Given the description of an element on the screen output the (x, y) to click on. 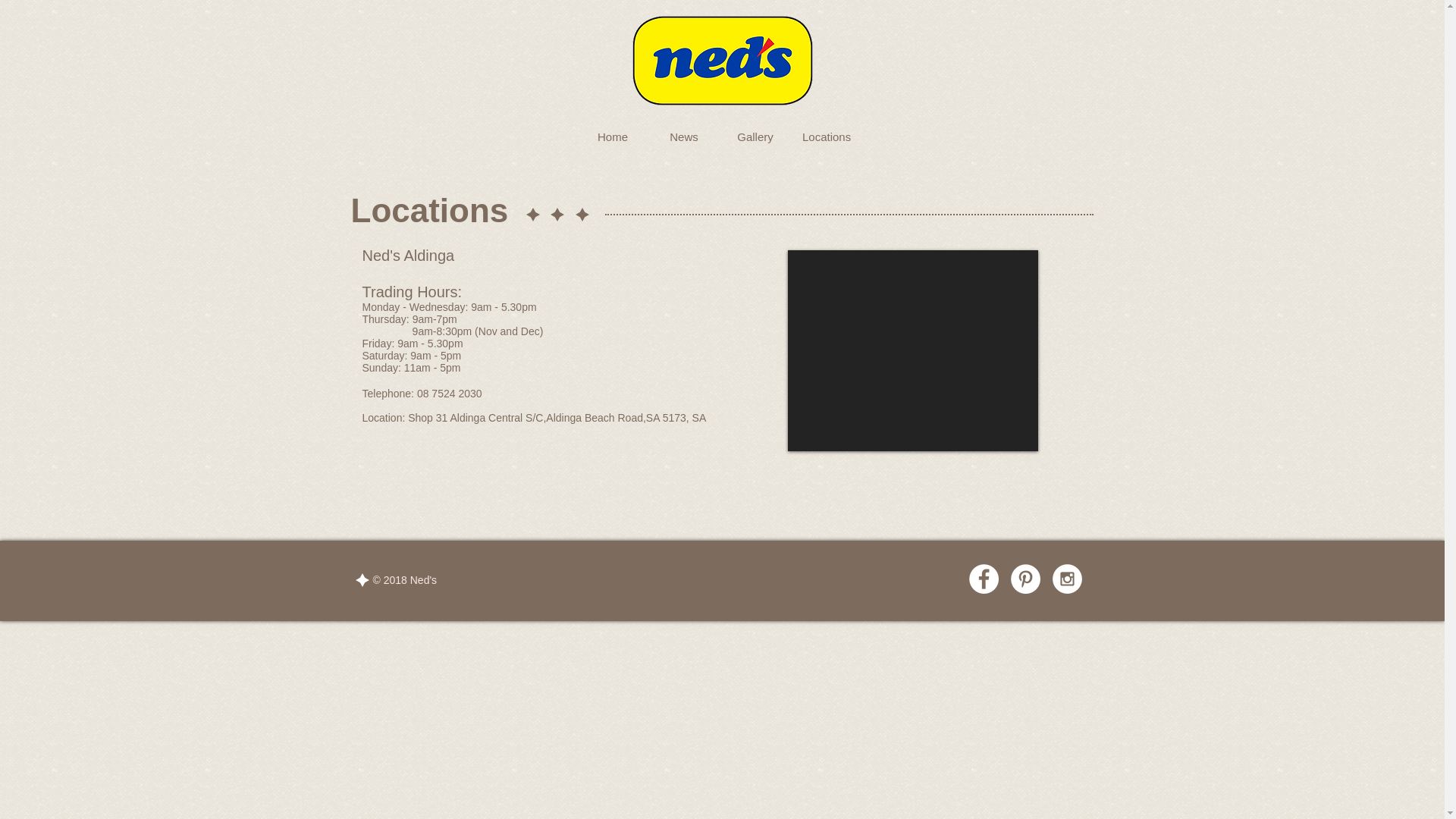
NedsLogo.png Element type: hover (722, 60)
Gallery Element type: text (754, 136)
News Element type: text (683, 136)
Locations Element type: text (826, 136)
Home Element type: text (612, 136)
